Given the description of an element on the screen output the (x, y) to click on. 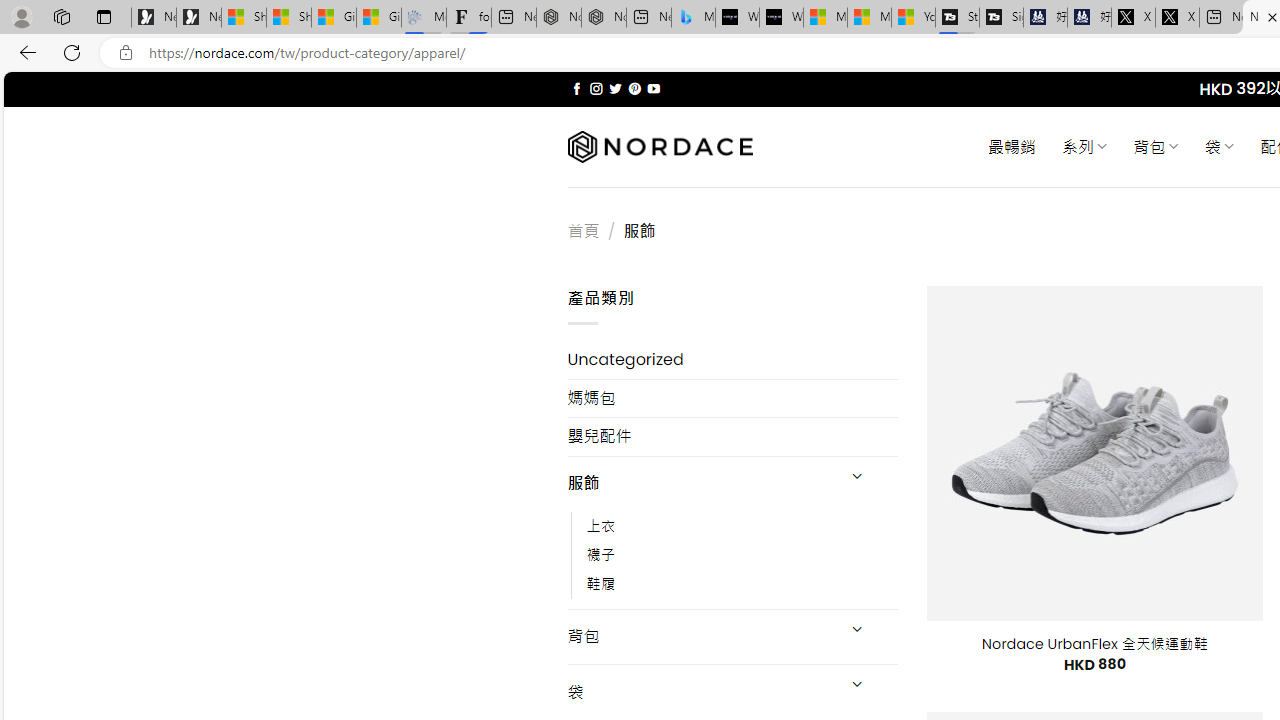
Follow on Pinterest (634, 88)
Uncategorized (732, 359)
Uncategorized (732, 359)
